Given the description of an element on the screen output the (x, y) to click on. 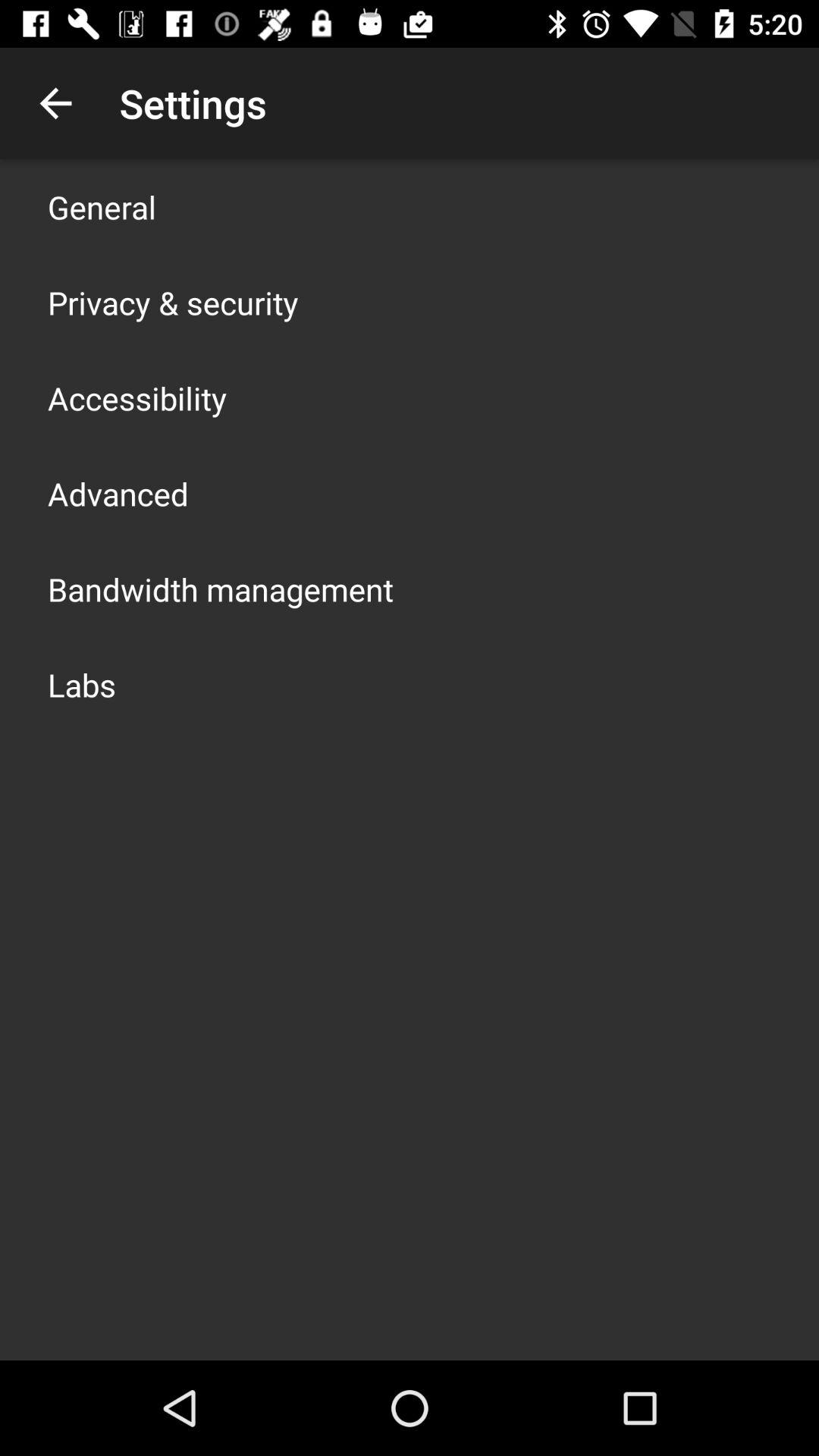
launch the item next to settings (55, 103)
